Given the description of an element on the screen output the (x, y) to click on. 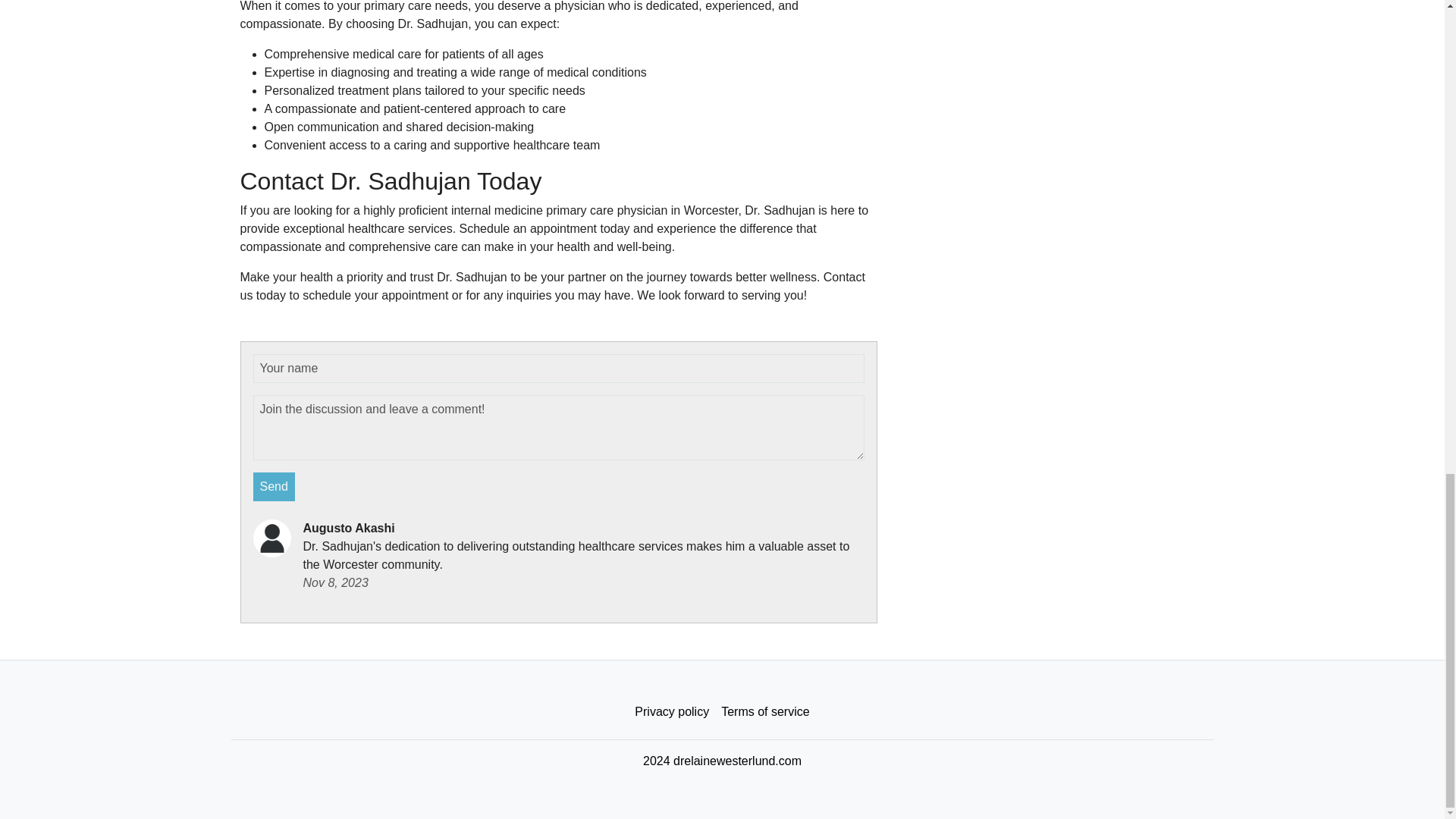
Send (274, 486)
Send (274, 486)
Terms of service (764, 711)
Privacy policy (671, 711)
